Given the description of an element on the screen output the (x, y) to click on. 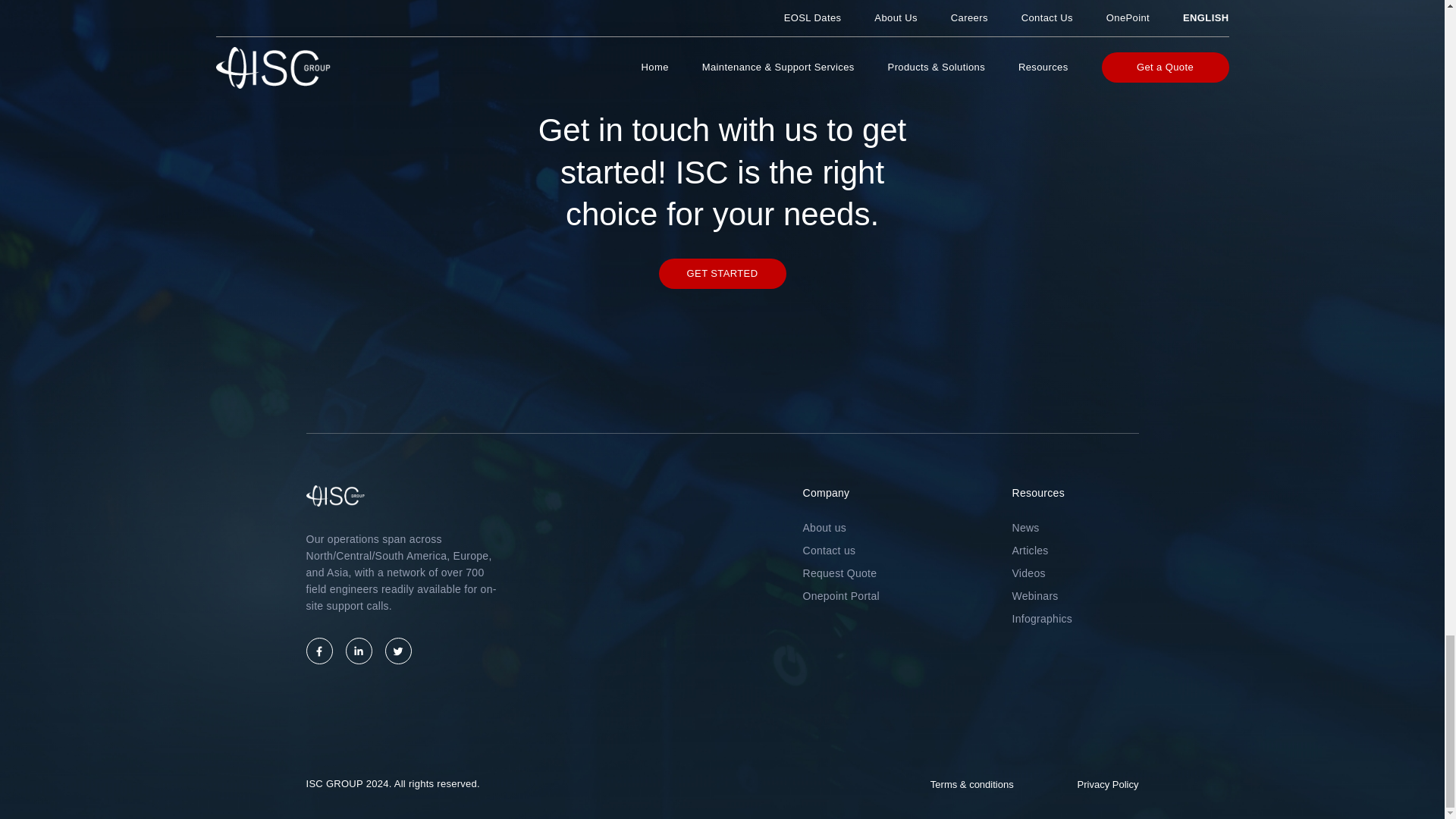
LinkedIn (359, 651)
Twitter (398, 651)
Facebook (319, 651)
